Given the description of an element on the screen output the (x, y) to click on. 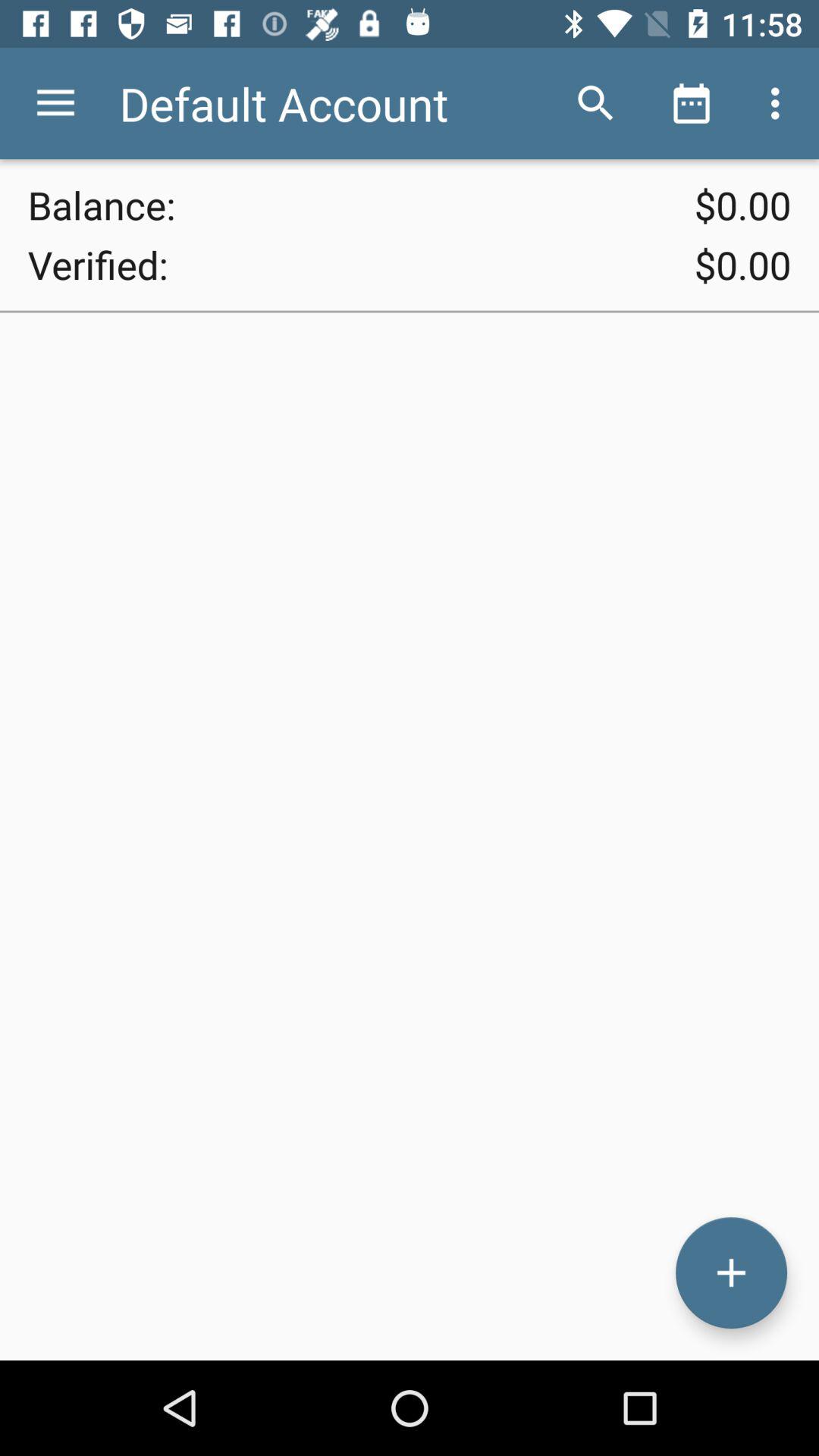
choose the item above the $0.00 (779, 103)
